Given the description of an element on the screen output the (x, y) to click on. 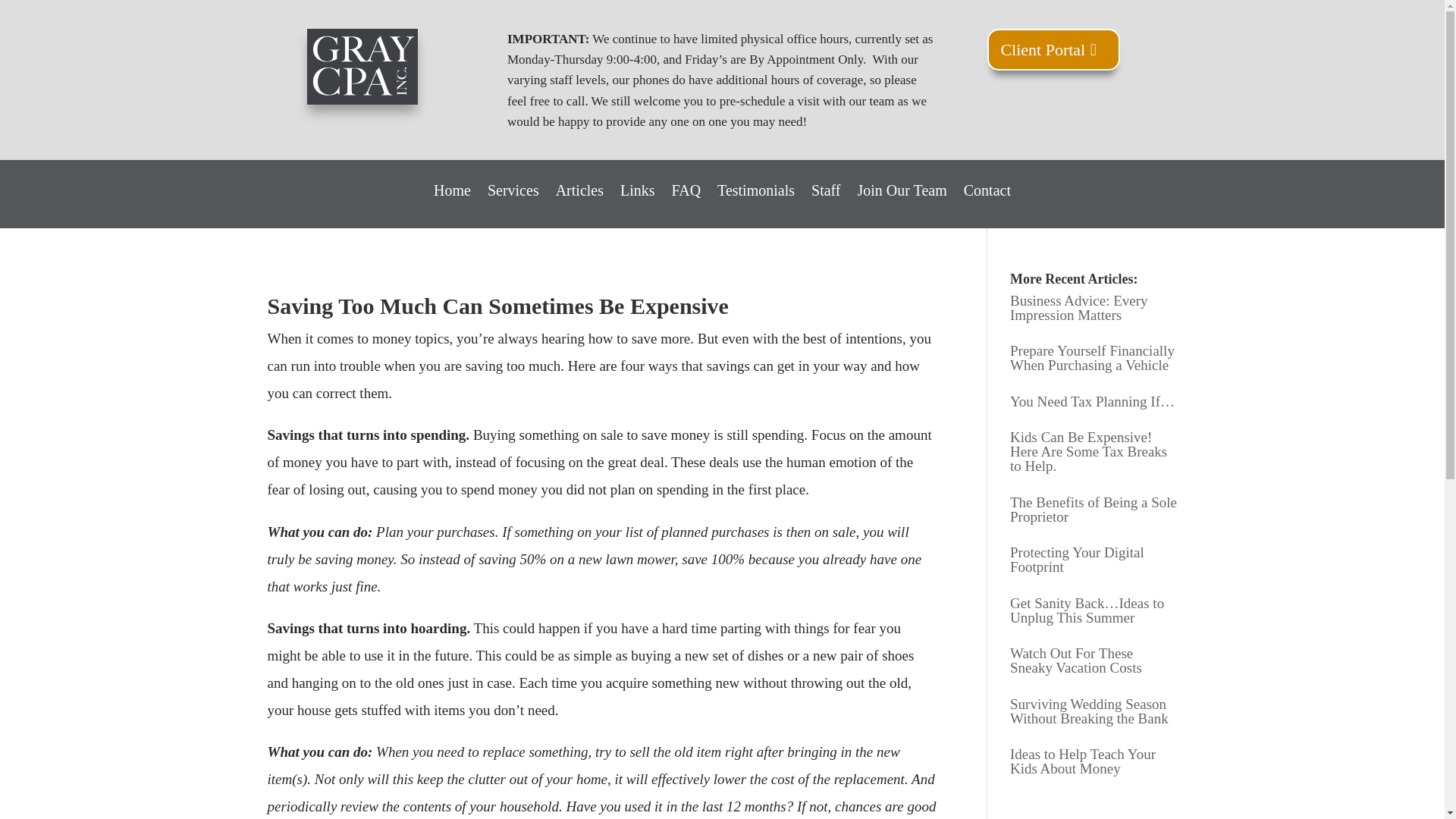
Services (512, 201)
Contact (986, 201)
Prepare Yourself Financially When Purchasing a Vehicle (1092, 358)
Protecting Your Digital Footprint (1077, 559)
Business Advice: Every Impression Matters (1079, 307)
Surviving Wedding Season Without Breaking the Bank (1089, 711)
Links (637, 201)
Kids Can Be Expensive! Here Are Some Tax Breaks to Help. (1088, 451)
Watch Out For These Sneaky Vacation Costs (1075, 660)
Staff (825, 201)
Ideas to Help Teach Your Kids About Money (1083, 761)
The Benefits of Being a Sole Proprietor (1093, 509)
Join Our Team (902, 201)
Home (451, 201)
FAQ (686, 201)
